Given the description of an element on the screen output the (x, y) to click on. 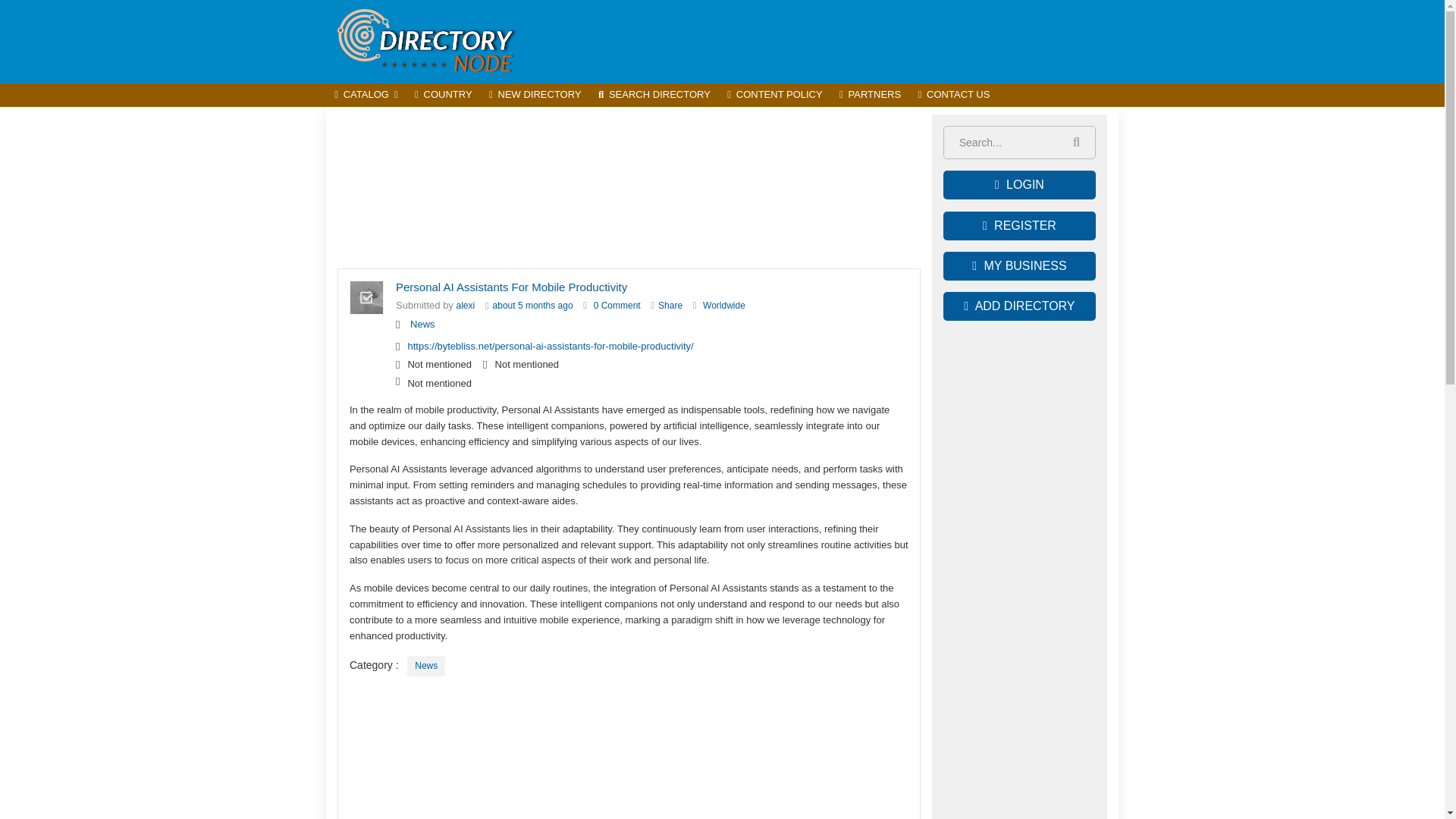
REGISTER (1019, 225)
Advertisement (842, 41)
Personal AI Assistants for Mobile Productivity (617, 305)
Advertisement (628, 187)
ADD DIRECTORY (1019, 306)
MY BUSINESS (1019, 265)
0 Comment (617, 305)
about 5 months ago (533, 305)
NEW DIRECTORY (534, 95)
CATALOG (366, 95)
Worldwide (724, 305)
News (422, 324)
COUNTRY (443, 95)
News (426, 666)
